Given the description of an element on the screen output the (x, y) to click on. 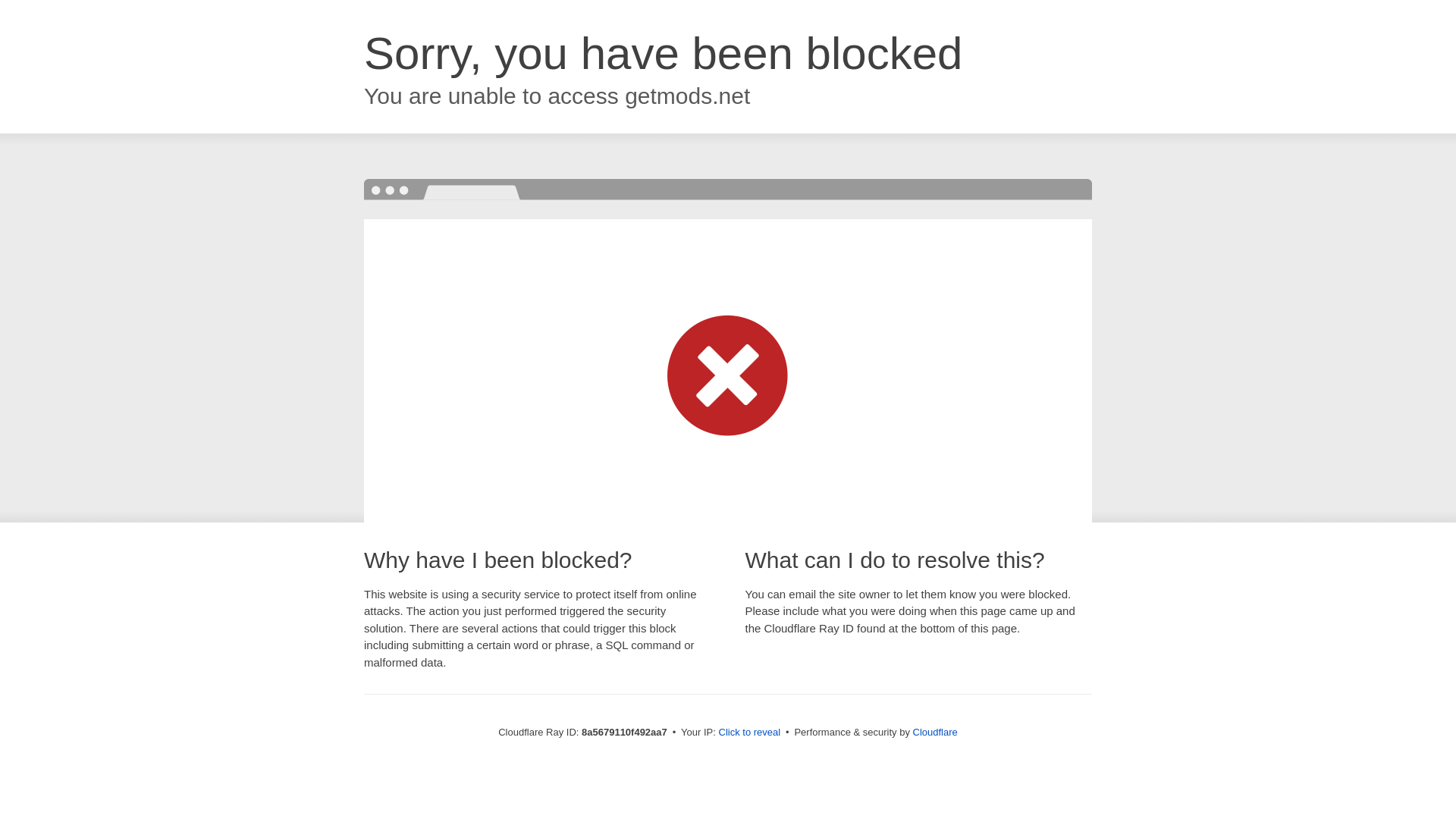
Cloudflare (935, 731)
Click to reveal (749, 732)
